Given the description of an element on the screen output the (x, y) to click on. 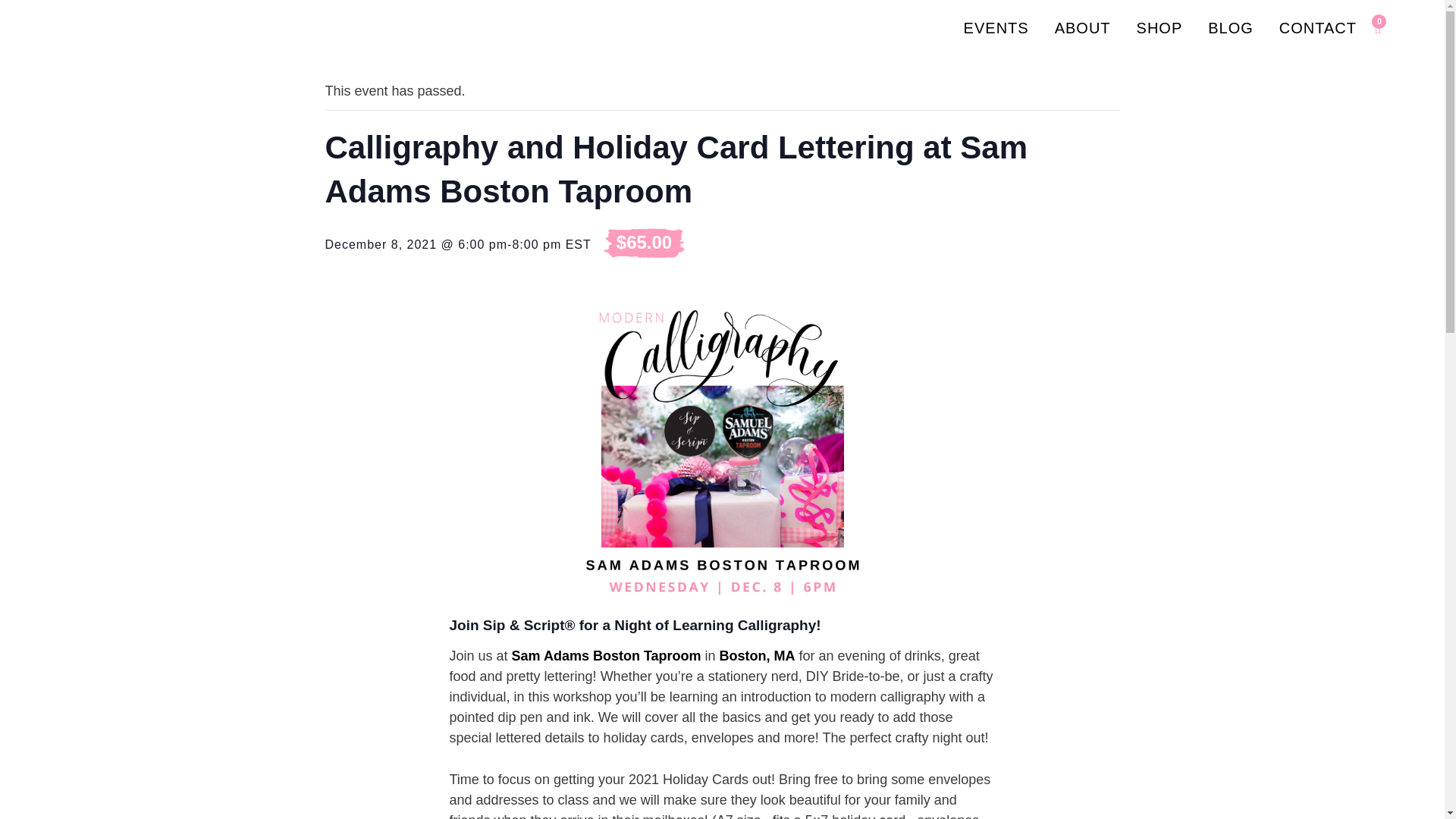
BLOG (1230, 28)
ABOUT (1083, 28)
SHOP (1159, 28)
EVENTS (996, 28)
CONTACT (1318, 28)
